Given the description of an element on the screen output the (x, y) to click on. 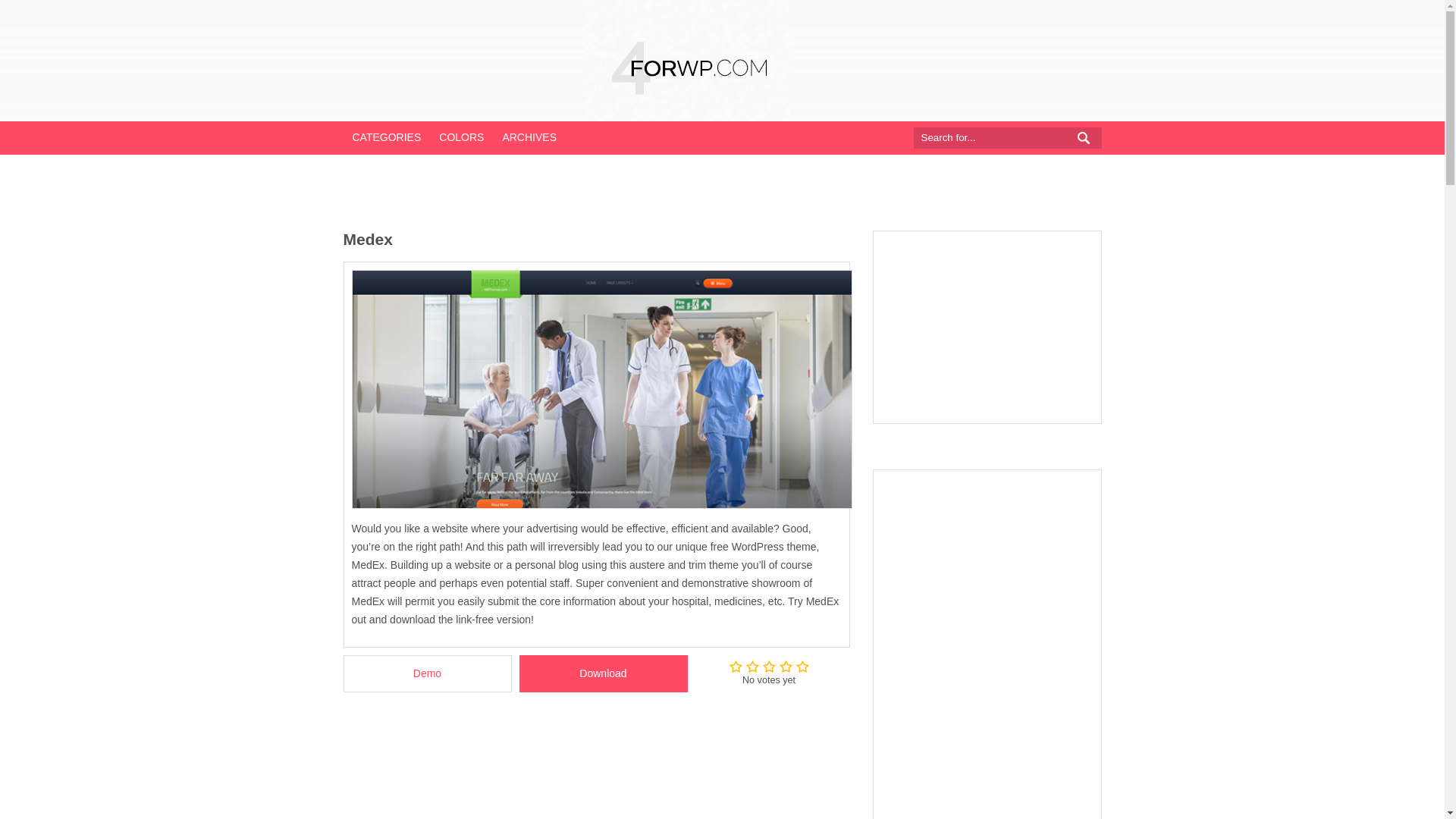
Advertisement (986, 325)
ForWP (687, 60)
ARCHIVES (529, 137)
Search for... (995, 137)
CATEGORIES (385, 137)
COLORS (461, 137)
Search for... (995, 137)
